Given the description of an element on the screen output the (x, y) to click on. 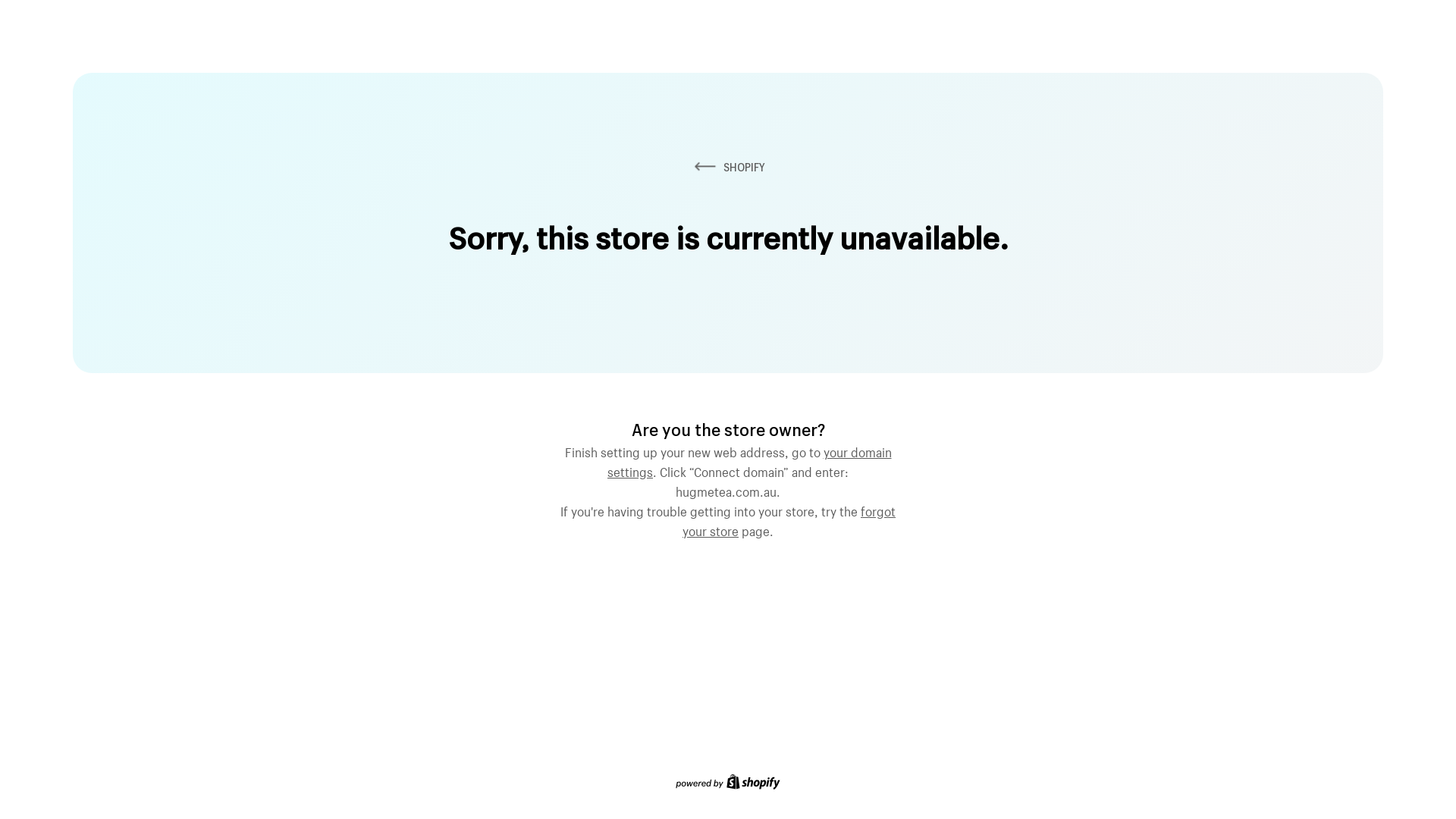
forgot your store Element type: text (788, 519)
your domain settings Element type: text (749, 460)
SHOPIFY Element type: text (727, 167)
